Given the description of an element on the screen output the (x, y) to click on. 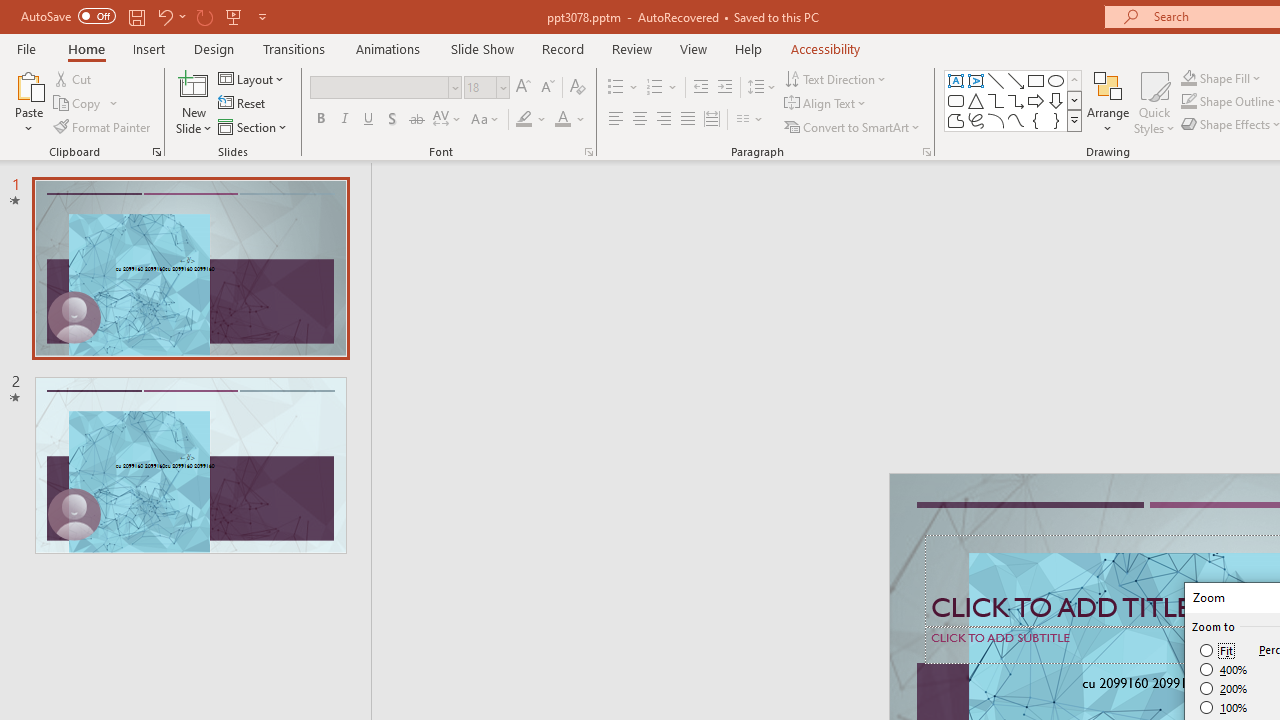
Fit (1217, 650)
